Given the description of an element on the screen output the (x, y) to click on. 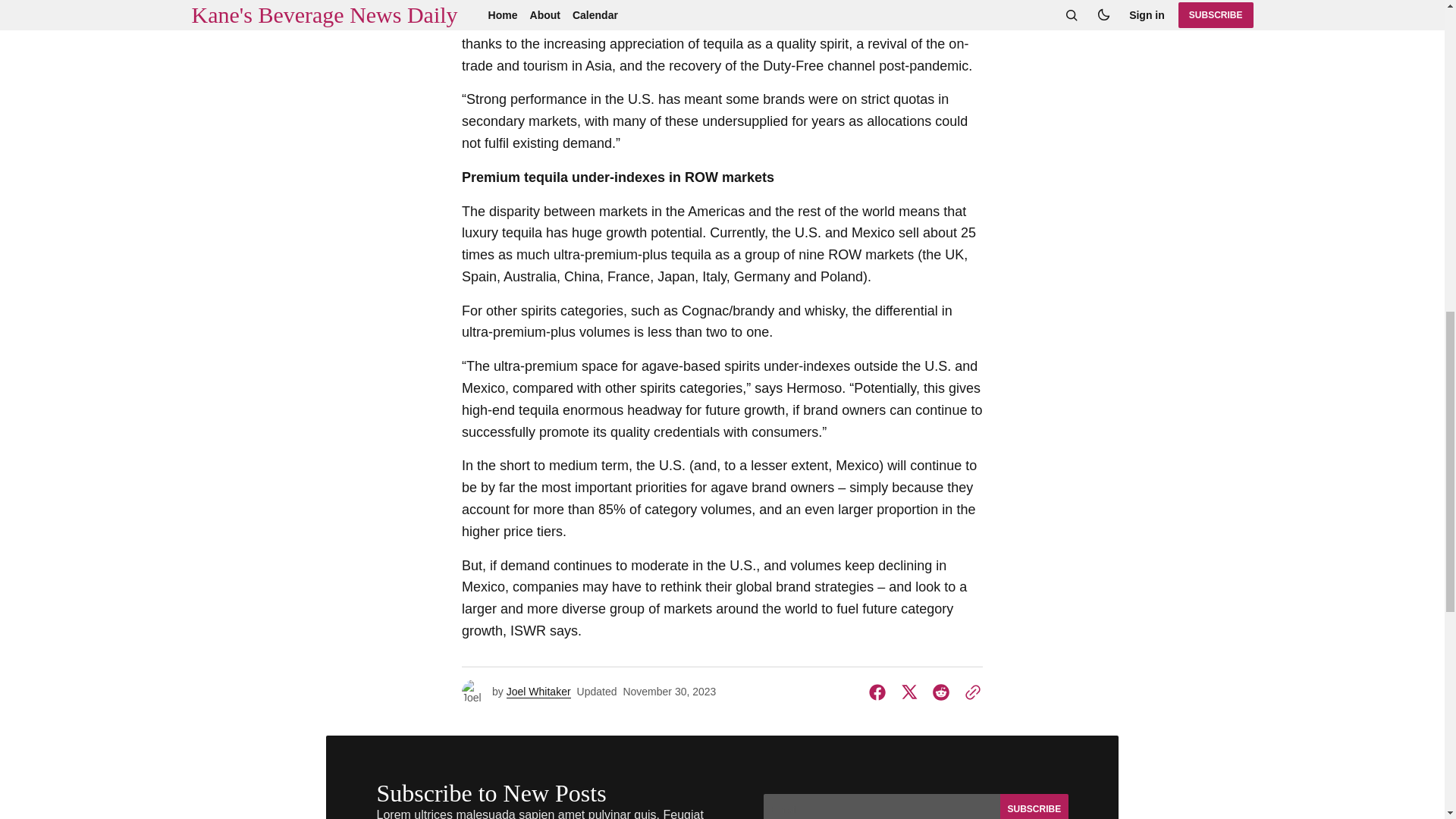
Joel Whitaker (538, 691)
SUBSCRIBE (1032, 806)
